Given the description of an element on the screen output the (x, y) to click on. 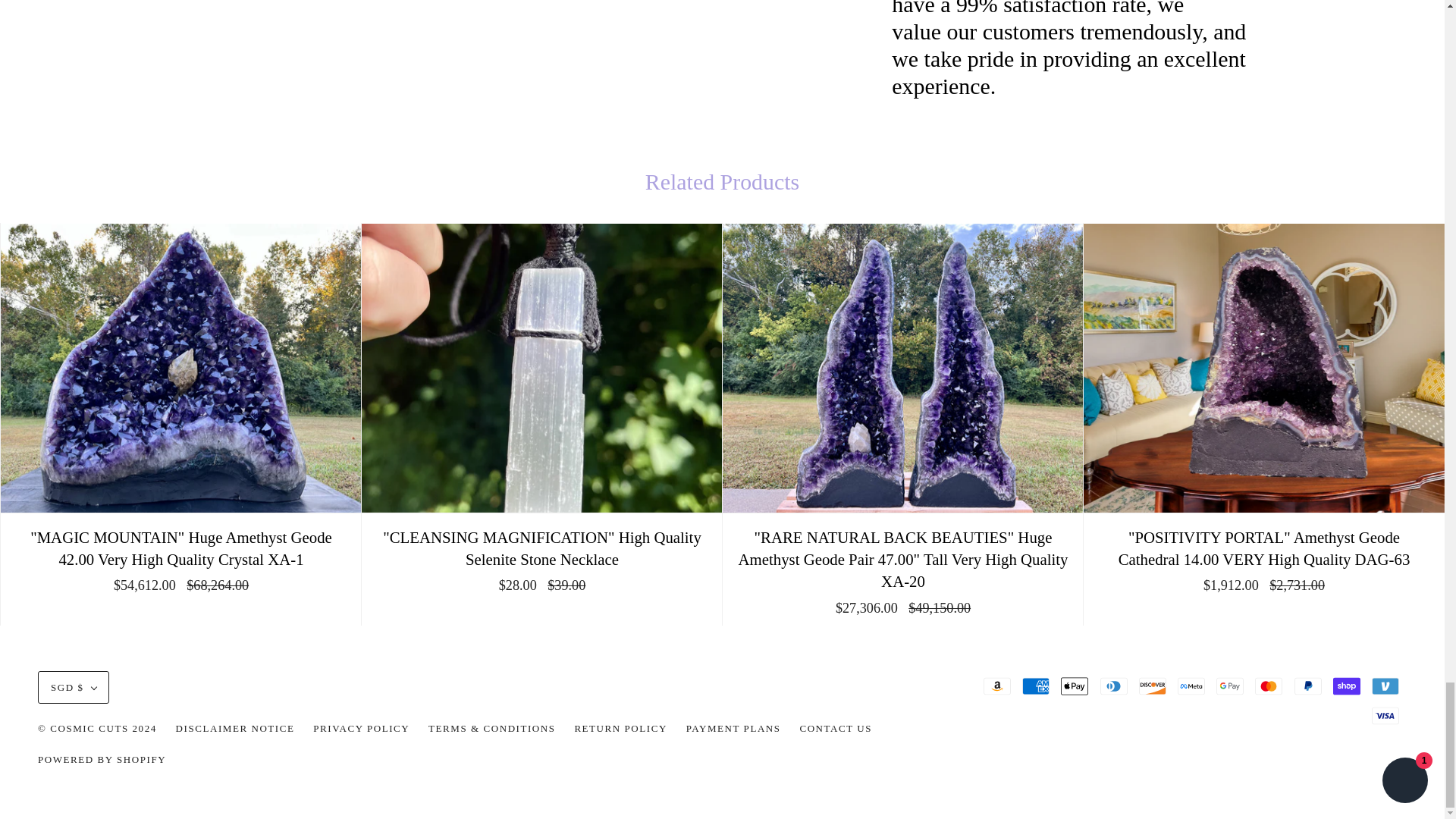
PayPal (1308, 686)
Apple Pay (1074, 686)
Mastercard (1268, 686)
Meta Pay (1191, 686)
Google Pay (1229, 686)
American Express (1035, 686)
Visa (1385, 715)
Diners Club (1113, 686)
Amazon (997, 686)
Venmo (1385, 686)
Discover (1152, 686)
Shop Pay (1346, 686)
